Given the description of an element on the screen output the (x, y) to click on. 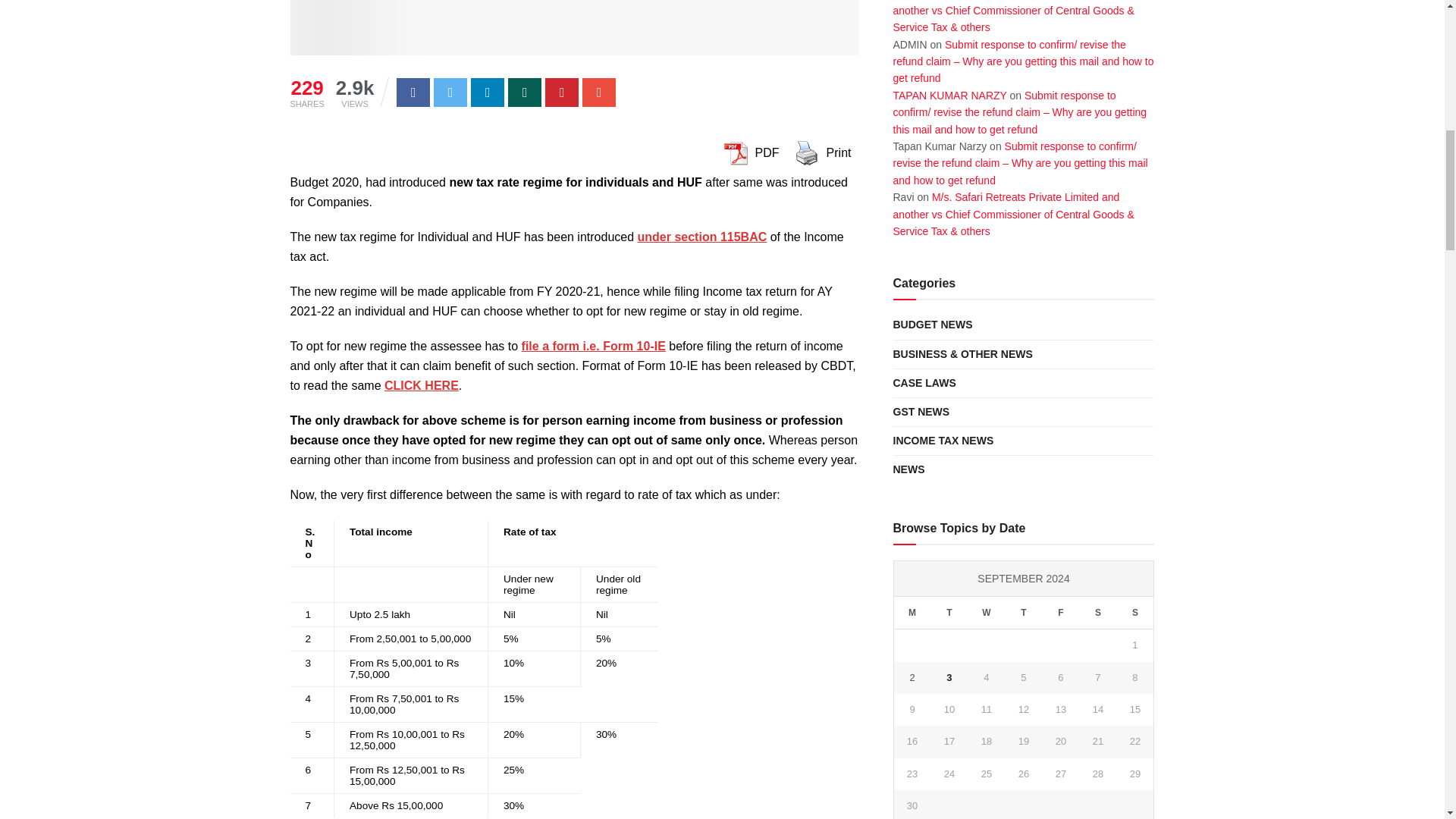
Friday (1060, 613)
Thursday (1023, 613)
Print Content (806, 152)
Sunday (1134, 613)
Wednesday (986, 613)
Tuesday (949, 613)
Monday (911, 613)
View PDF (735, 152)
Saturday (1097, 613)
